Given the description of an element on the screen output the (x, y) to click on. 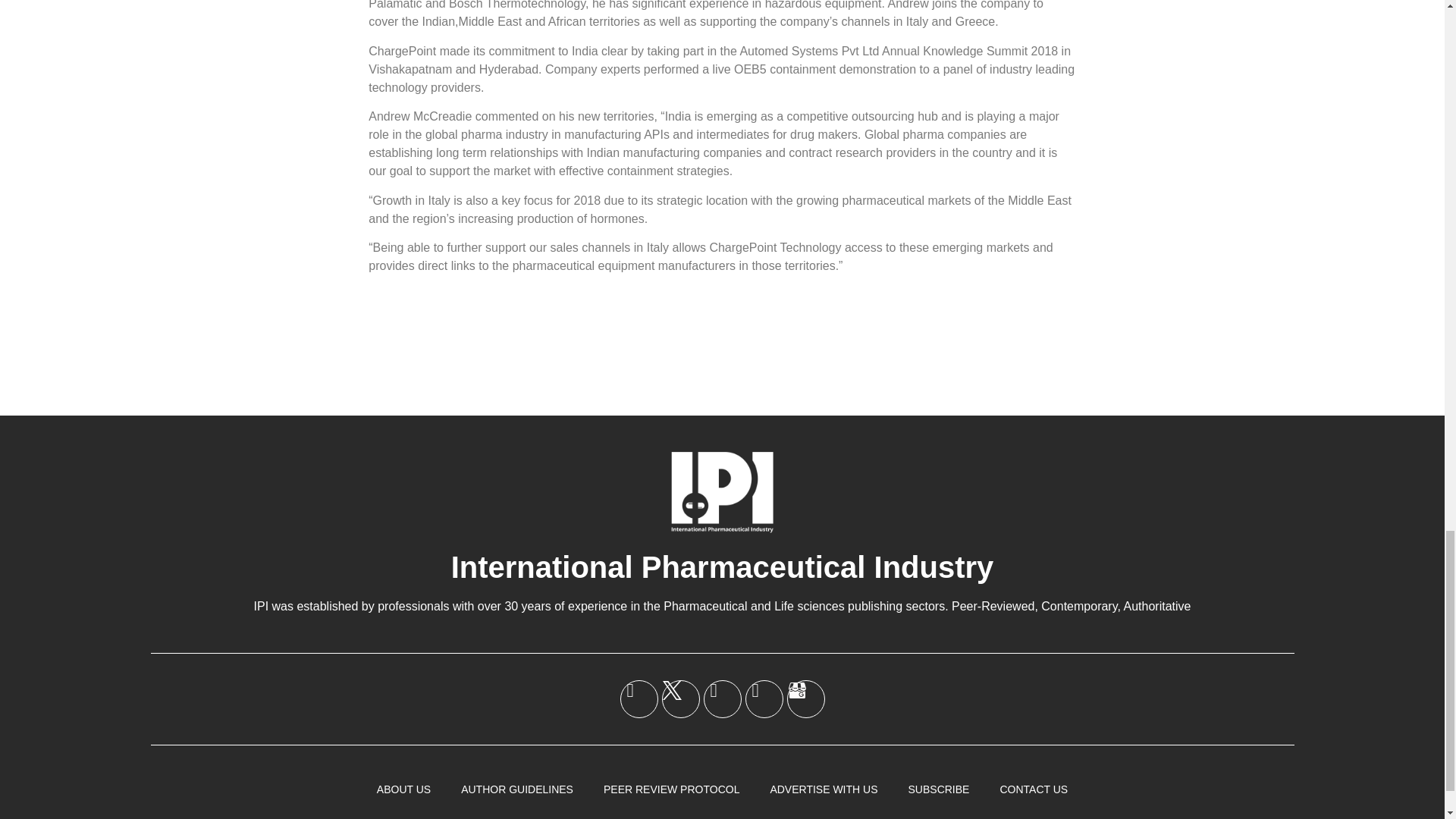
logo-ipi-w.png (721, 491)
